Given the description of an element on the screen output the (x, y) to click on. 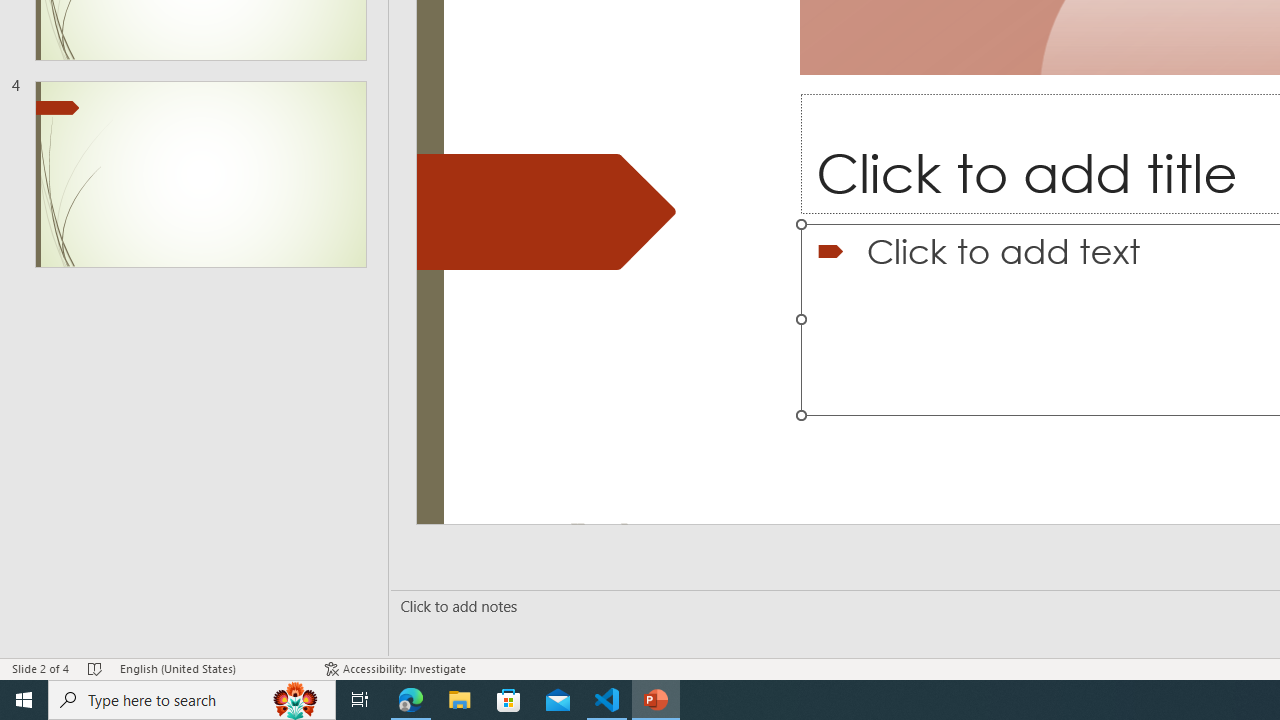
Decorative Locked (546, 212)
